Given the description of an element on the screen output the (x, y) to click on. 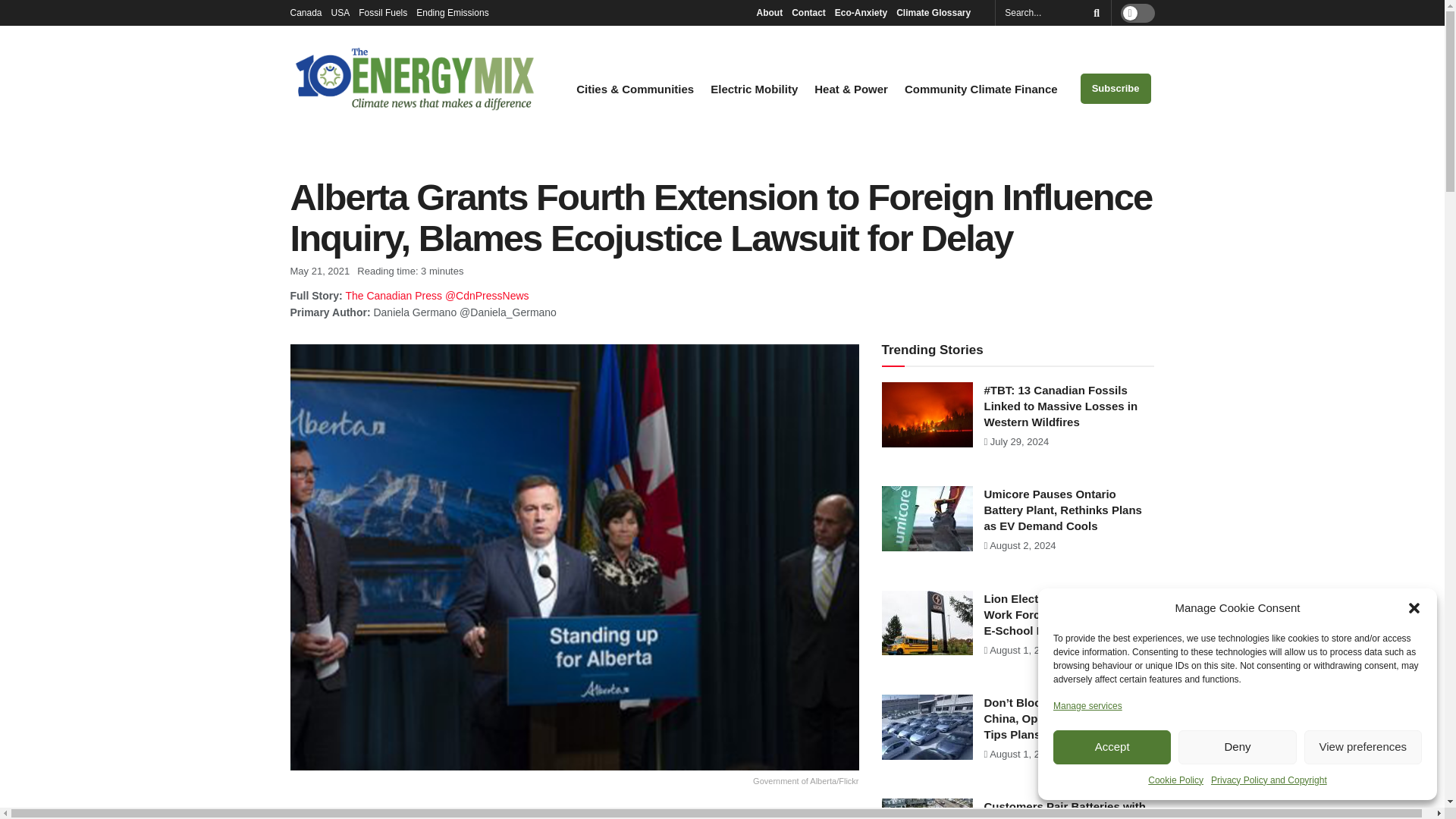
Climate Glossary (937, 12)
Ending Emissions (456, 12)
Fossil Fuels (382, 12)
Eco-Anxiety (860, 12)
Privacy Policy and Copyright (1268, 780)
Contact (808, 12)
Cookie Policy (1176, 780)
Electric Mobility (753, 89)
About (769, 12)
Accept (1111, 747)
